Given the description of an element on the screen output the (x, y) to click on. 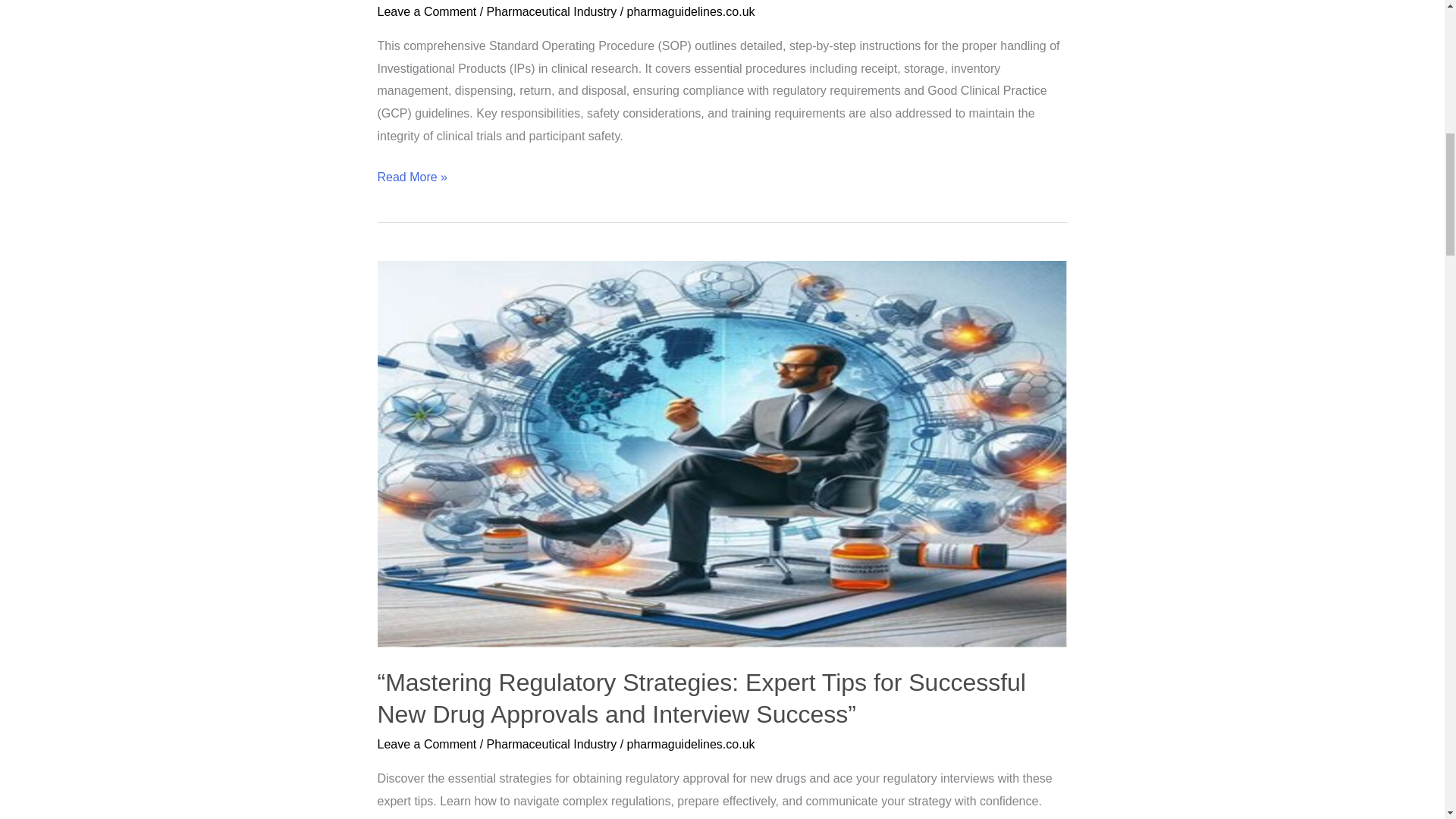
Pharmaceutical Industry (551, 11)
pharmaguidelines.co.uk (691, 743)
Leave a Comment (427, 743)
View all posts by pharmaguidelines.co.uk (691, 743)
pharmaguidelines.co.uk (691, 11)
Pharmaceutical Industry (551, 743)
Leave a Comment (427, 11)
View all posts by pharmaguidelines.co.uk (691, 11)
